Given the description of an element on the screen output the (x, y) to click on. 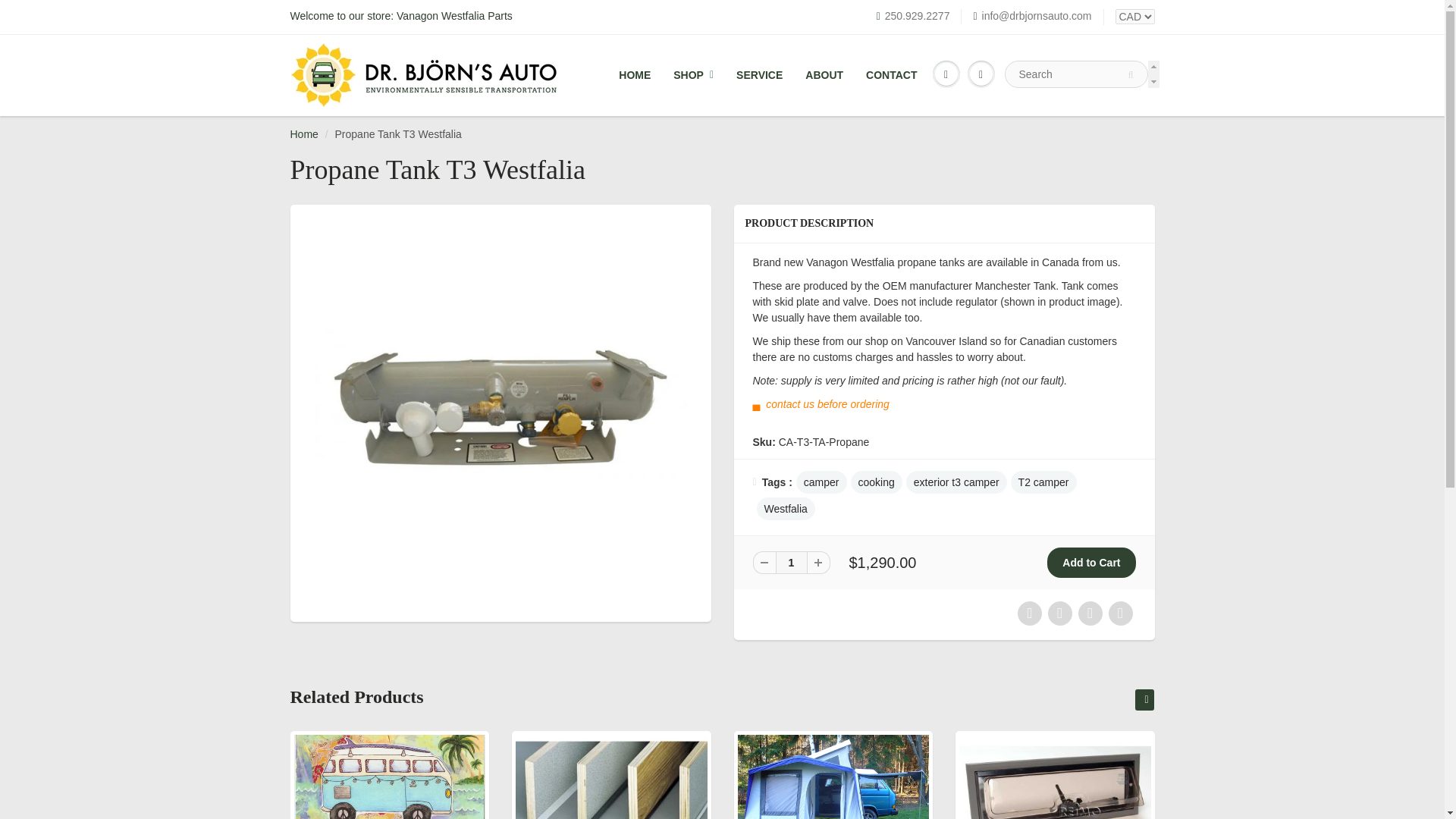
Add to Cart (1090, 562)
1 (790, 562)
Home (303, 133)
250.929.2277 (913, 16)
